Given the description of an element on the screen output the (x, y) to click on. 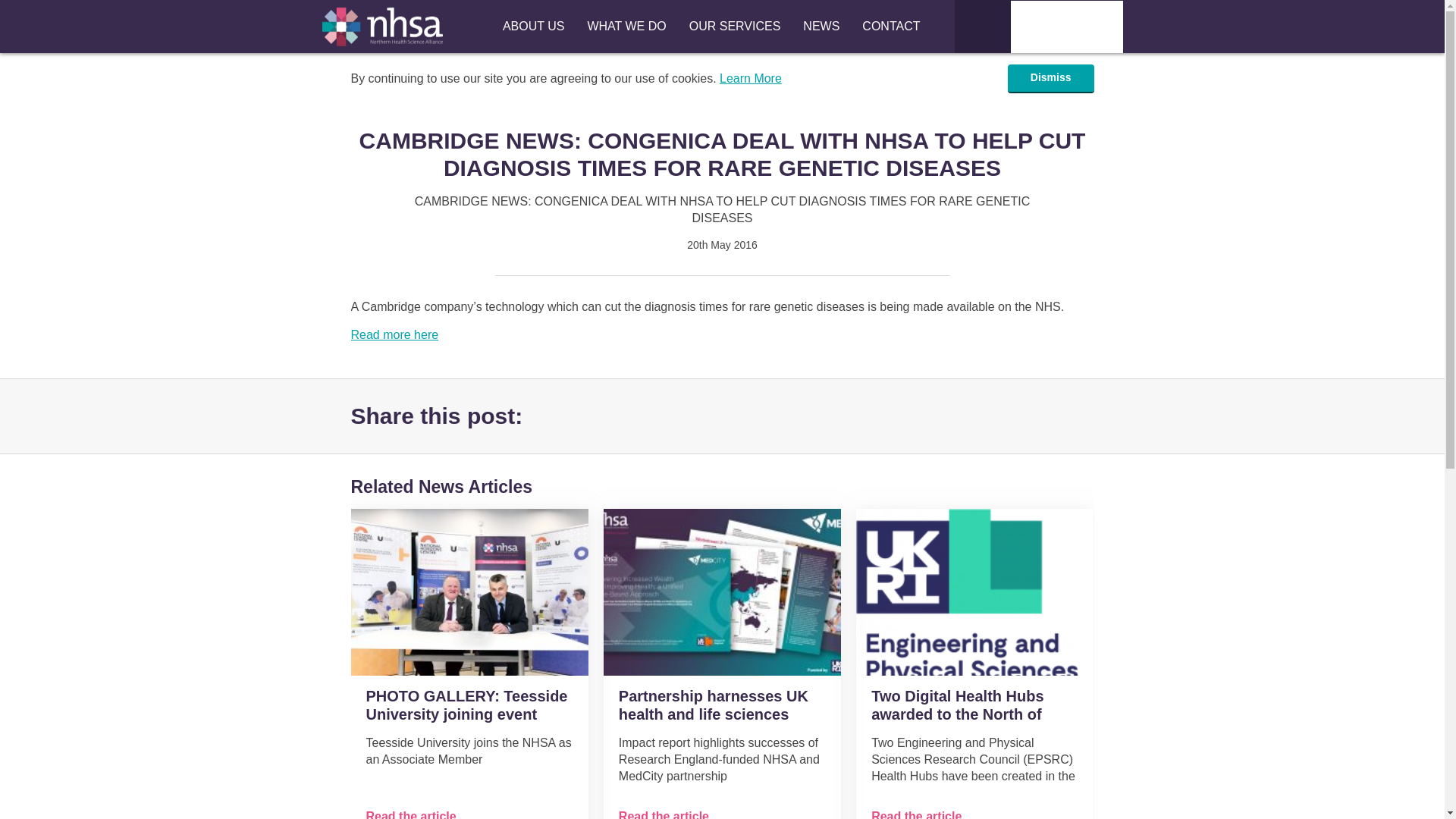
OUR SERVICES (735, 26)
WHAT WE DO (626, 26)
ABOUT US (534, 26)
Learn More (750, 78)
Dismiss (1050, 78)
CONTACT (890, 26)
NEWS (821, 26)
